Given the description of an element on the screen output the (x, y) to click on. 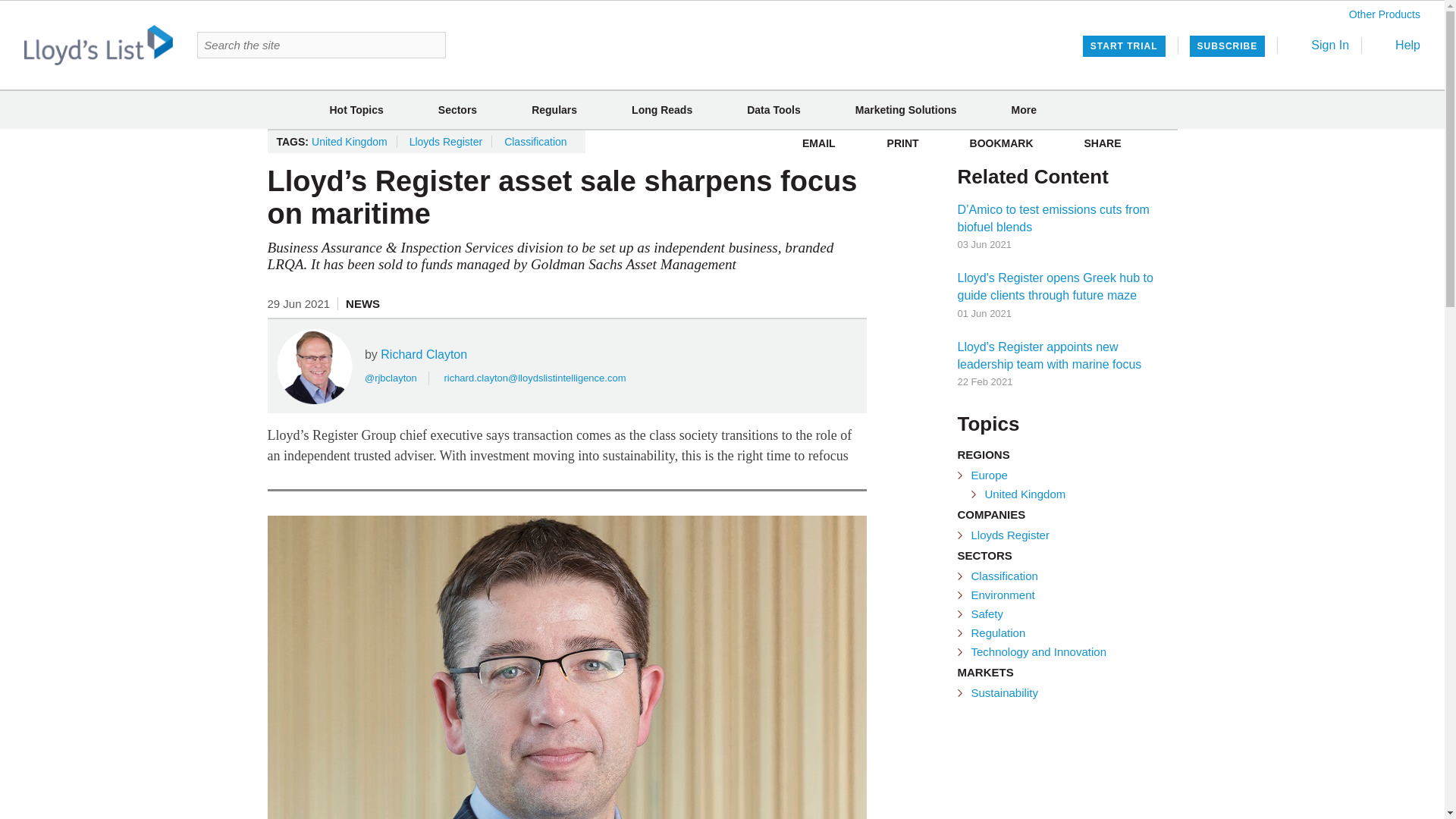
START TRIAL (1124, 46)
Sign In (1319, 44)
SUBSCRIBE (1227, 46)
Help (1397, 44)
Other Products (1385, 14)
